Given the description of an element on the screen output the (x, y) to click on. 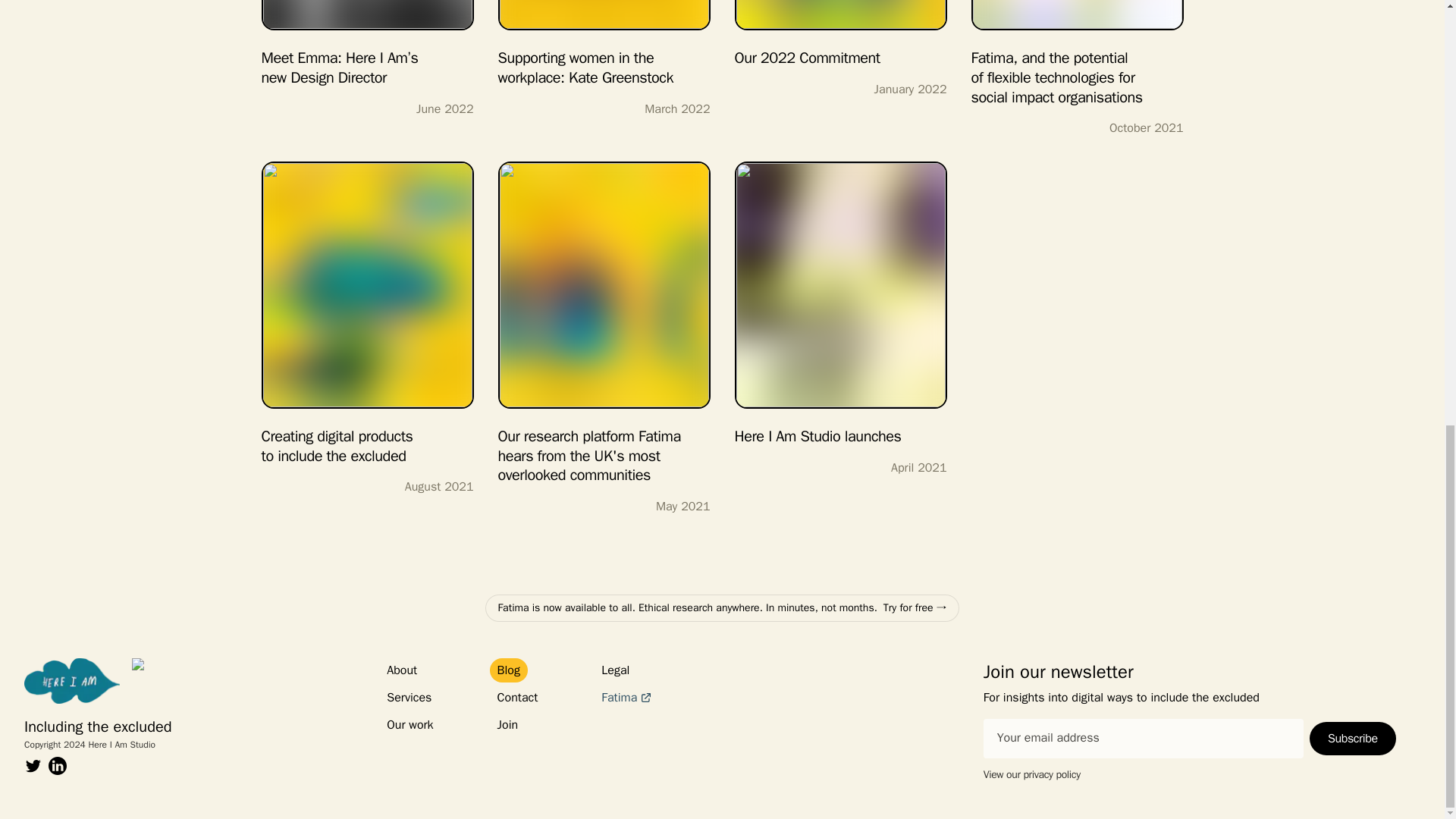
LinkedIn (57, 765)
Supporting women in the workplace: Kate Greenstock (603, 43)
Twitter (33, 765)
Our 2022 Commitment (839, 33)
